Given the description of an element on the screen output the (x, y) to click on. 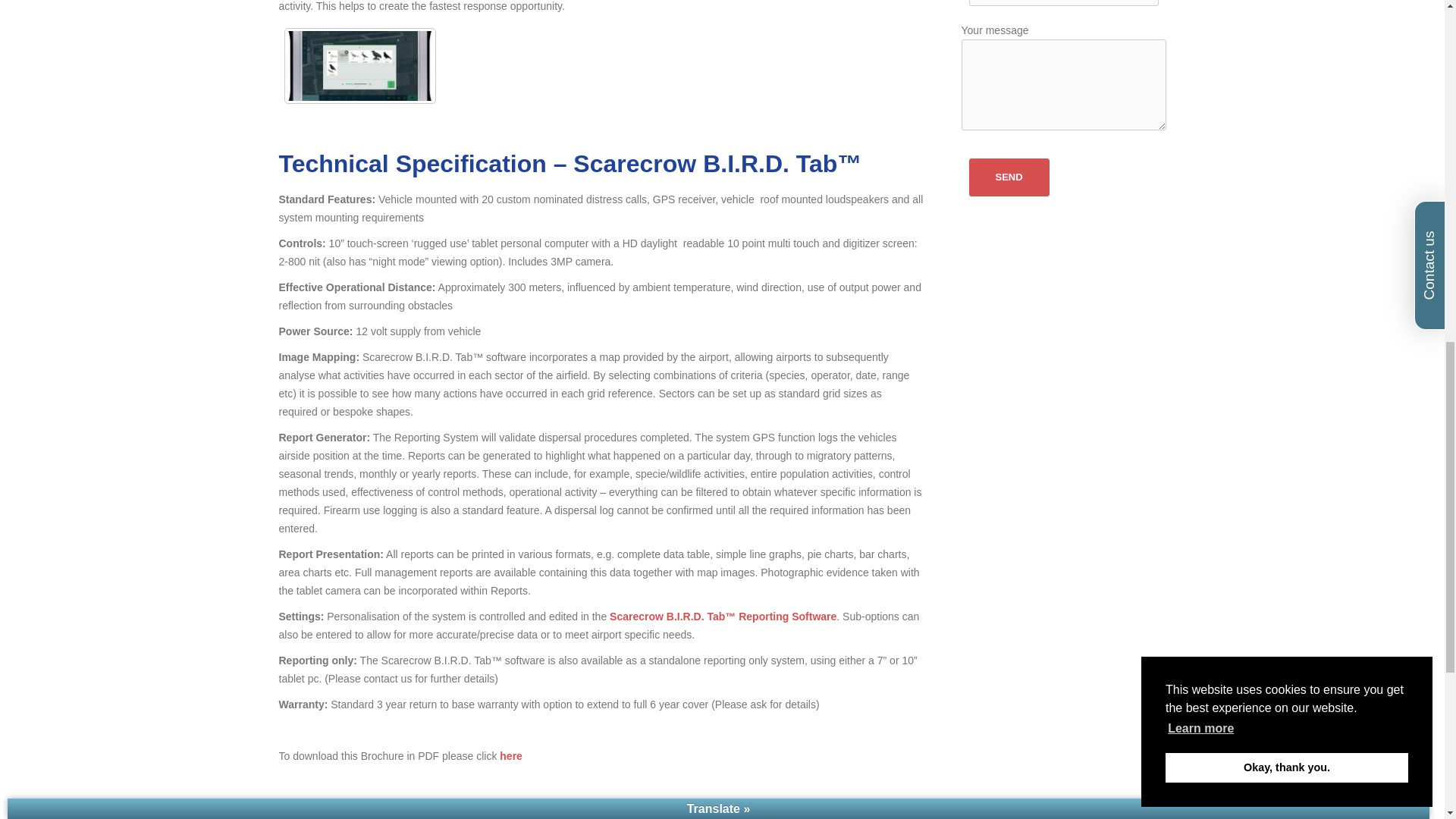
BIRD TAB DISTRESS CALLS copy (359, 65)
Send (1009, 177)
here (510, 756)
